Given the description of an element on the screen output the (x, y) to click on. 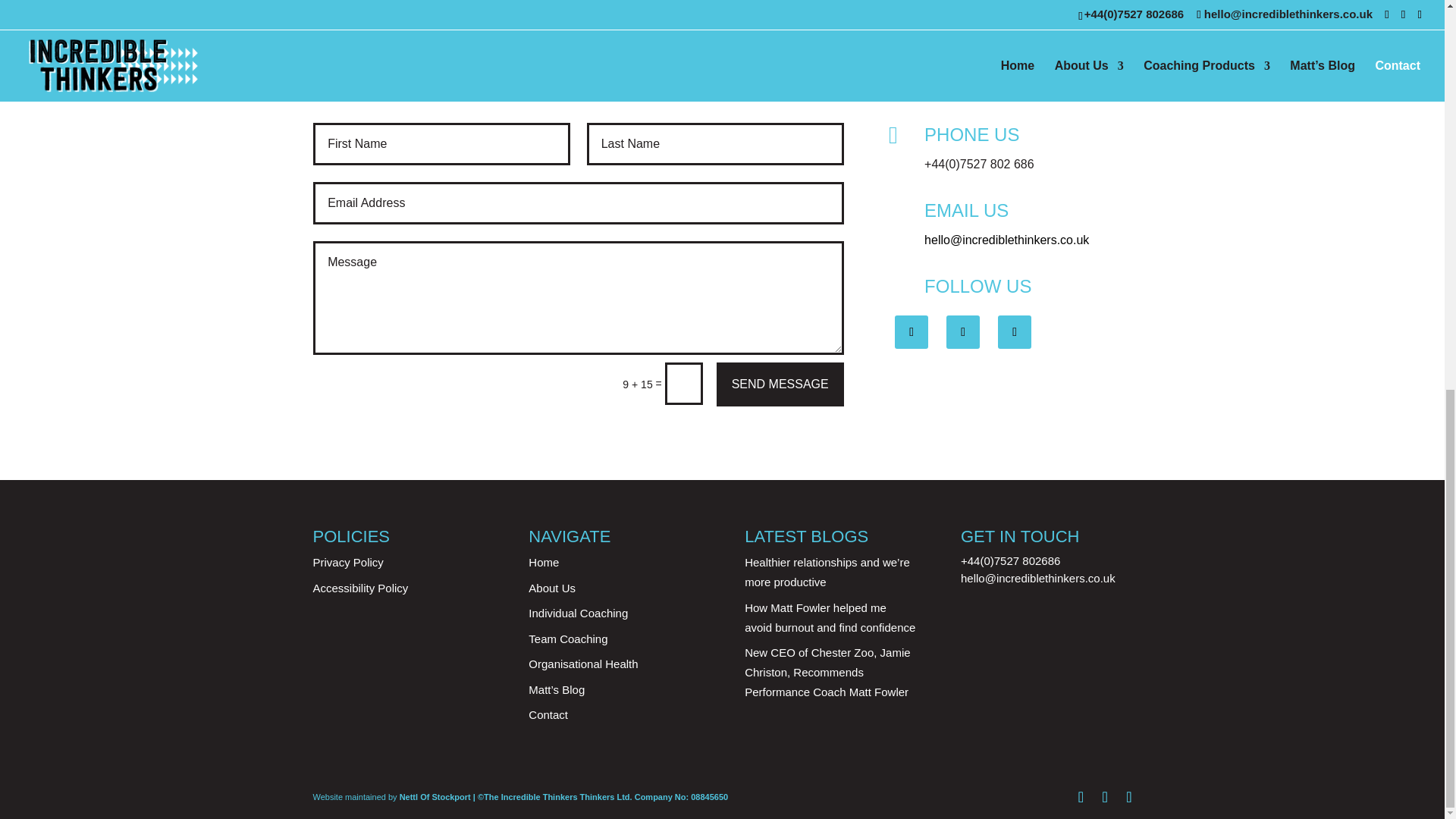
Follow on X (962, 331)
Follow on LinkedIn (1013, 331)
Follow on Facebook (911, 331)
SEND MESSAGE (780, 383)
